Given the description of an element on the screen output the (x, y) to click on. 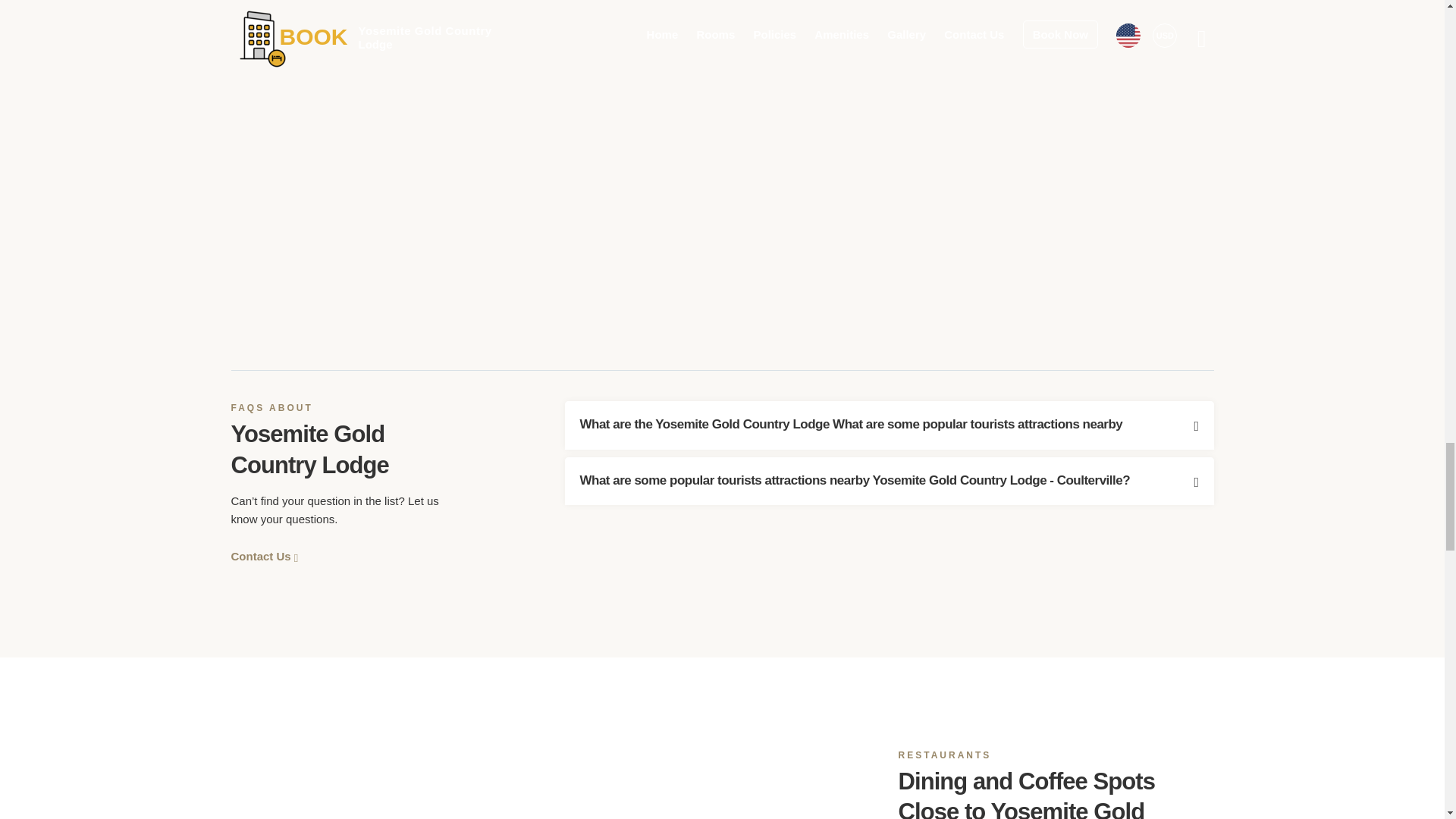
Contact Us (264, 555)
